Given the description of an element on the screen output the (x, y) to click on. 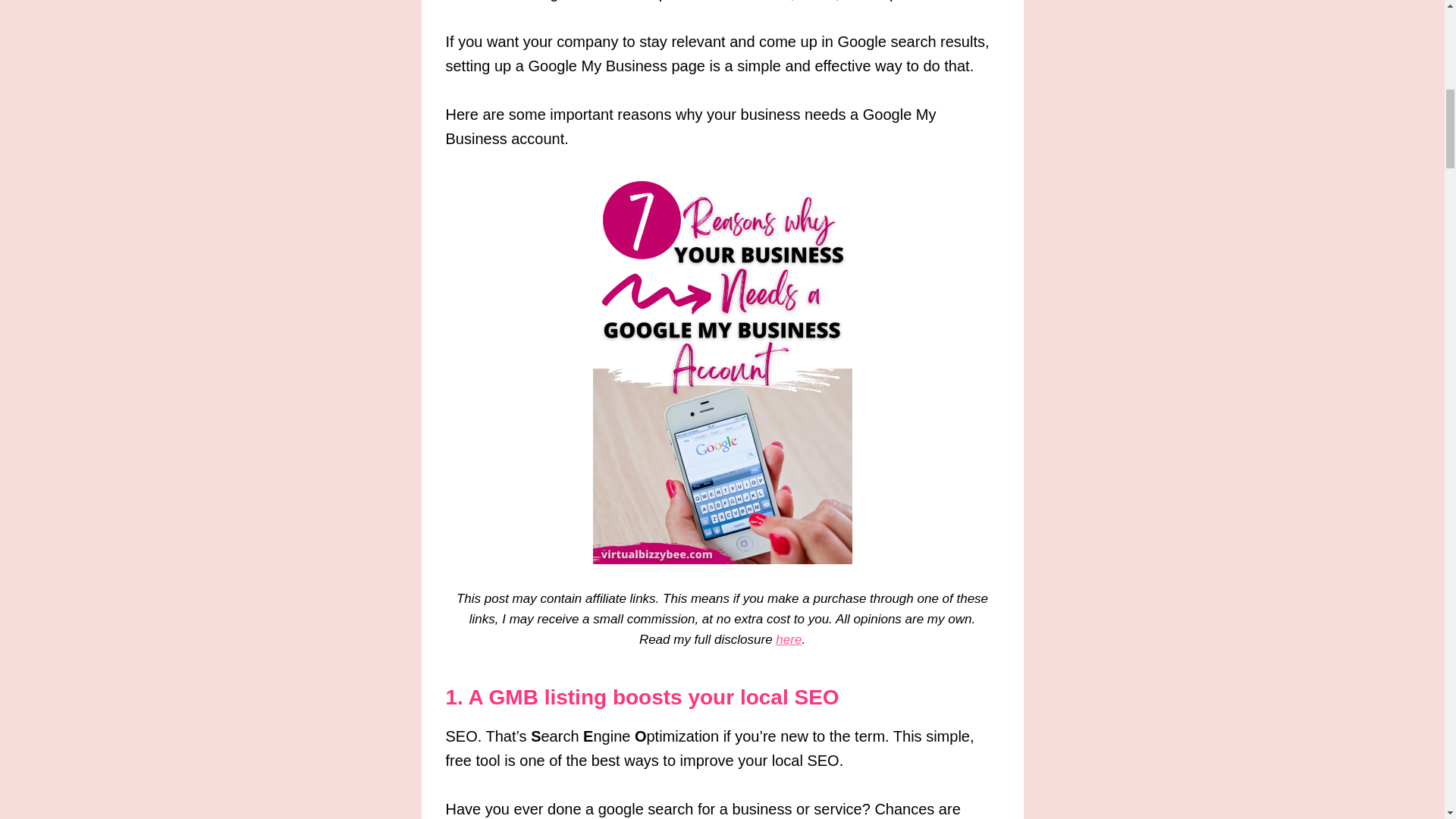
here (789, 639)
